Given the description of an element on the screen output the (x, y) to click on. 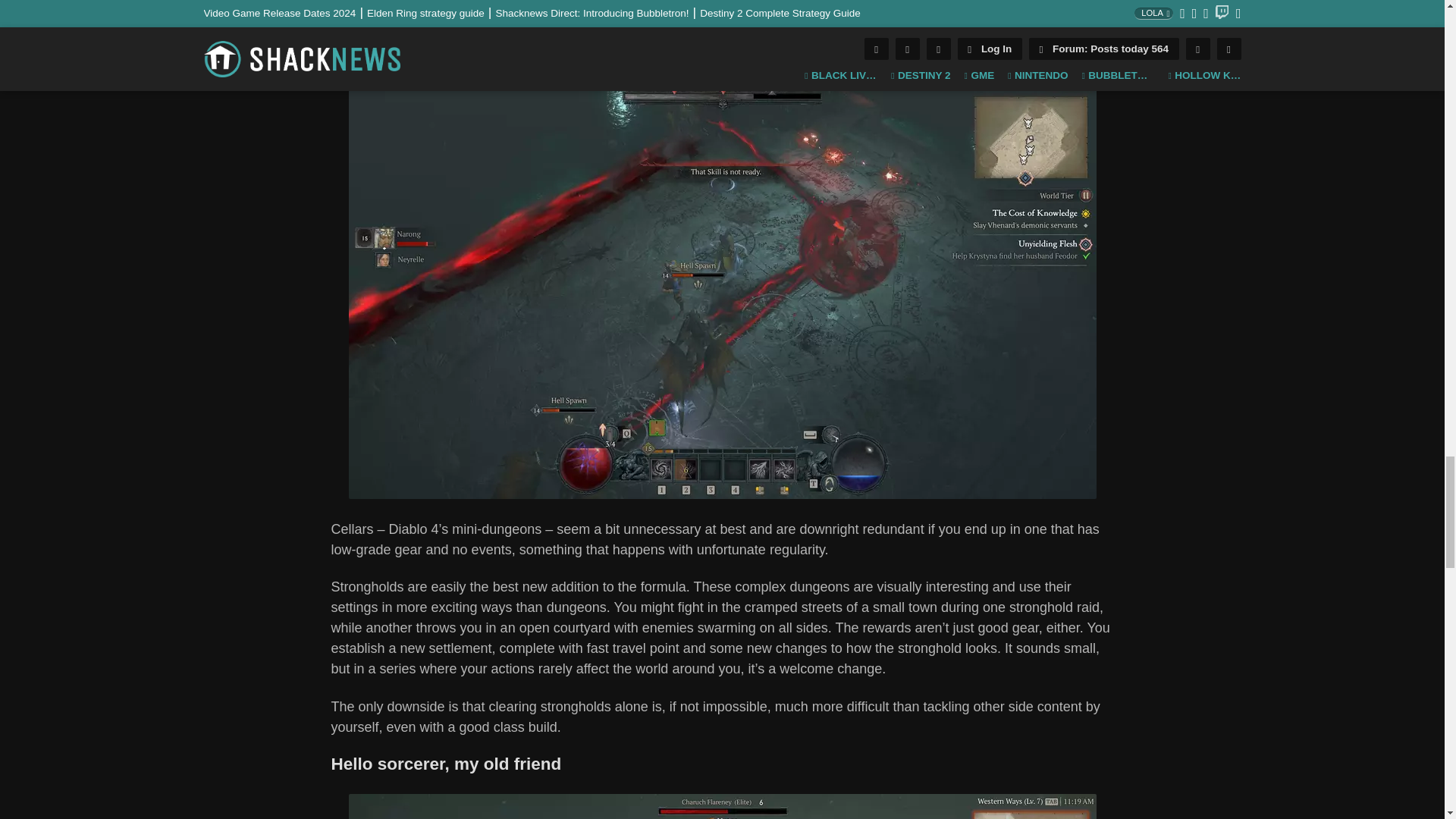
A giant monster attacks the player (722, 806)
